Given the description of an element on the screen output the (x, y) to click on. 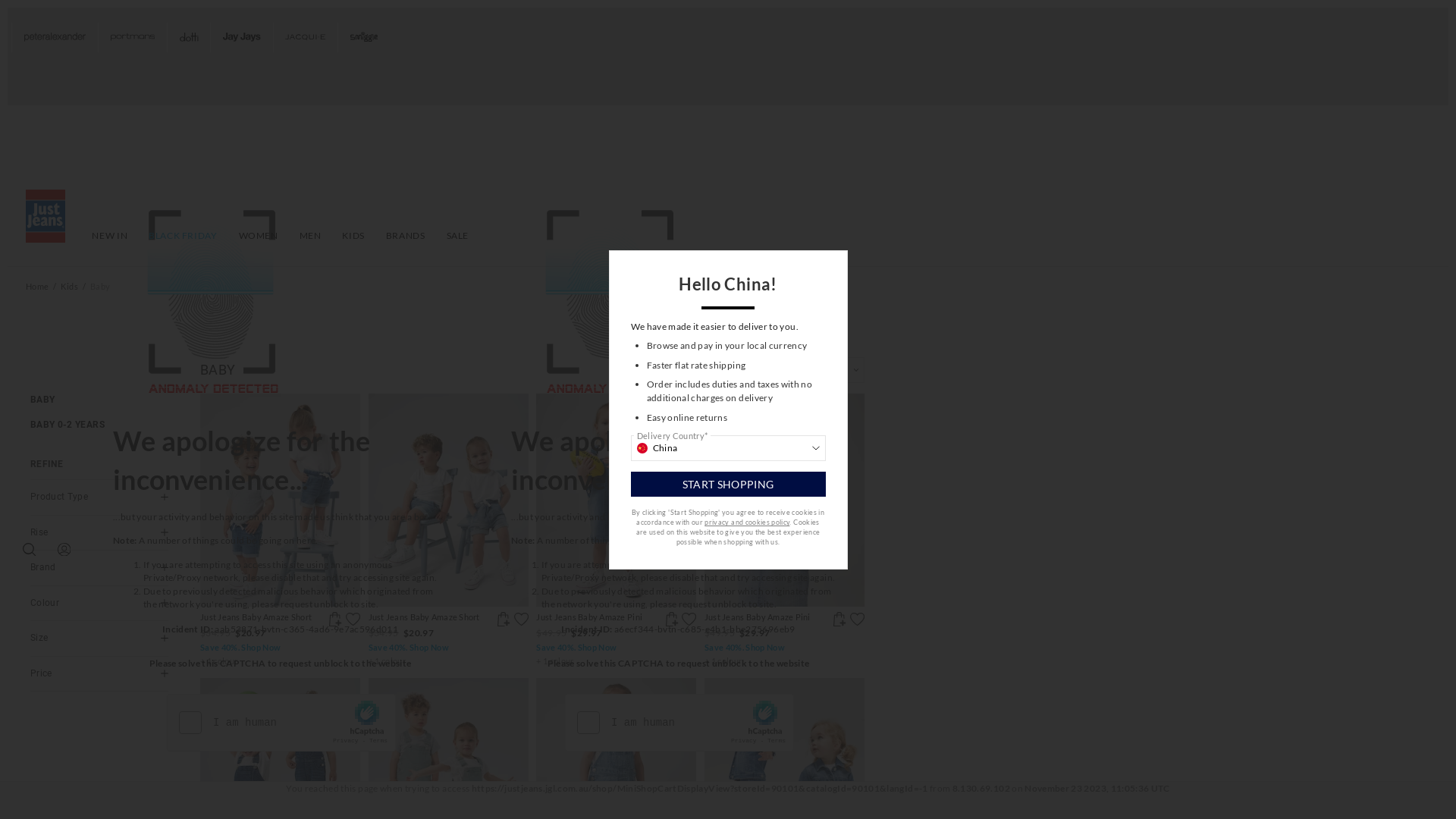
Dotti Element type: hover (188, 37)
Jacqui E Element type: hover (305, 37)
Home Element type: text (36, 286)
Baby Amaze Short Element type: hover (448, 499)
Peter Alexander Element type: hover (54, 37)
Baby Amaze Short Element type: hover (352, 618)
BLACK FRIDAY Element type: text (182, 235)
SALE Element type: text (457, 235)
Baby Amaze Short Element type: hover (502, 618)
WOMEN Element type: text (257, 235)
Baby Amaze Pini Element type: hover (784, 499)
privacy and cookies policy Element type: text (746, 521)
BRANDS Element type: text (405, 235)
Baby Amaze Pini Element type: hover (688, 618)
Smiggle Element type: hover (363, 37)
Baby Amaze Pini Element type: hover (857, 618)
Kids Element type: text (68, 286)
Baby Amaze Short Element type: hover (334, 618)
NEW IN Element type: text (109, 235)
Mid Rise Element type: text (99, 556)
Baby Amaze Pini Element type: hover (671, 618)
Baby Amaze Short Element type: hover (521, 618)
KIDS Element type: text (352, 235)
GO Element type: text (153, 704)
Portmans Element type: hover (131, 37)
Submit Element type: text (677, 798)
Blue Element type: text (99, 626)
Relaxed Element type: text (99, 521)
START SHOPPING Element type: text (727, 484)
Widget containing checkbox for hCaptcha security challenge Element type: hover (678, 723)
Baby Amaze Short Element type: hover (280, 499)
Just Jeans Element type: text (99, 592)
Baby Amaze Pini Element type: hover (838, 618)
Widget containing checkbox for hCaptcha security challenge Element type: hover (281, 723)
BABY Element type: text (42, 399)
BABY 0-2 YEARS Element type: text (67, 424)
3 Element type: text (62, 662)
Baby Amaze Pini Element type: hover (616, 499)
MEN Element type: text (310, 235)
Jay Jays Element type: hover (241, 37)
0-3 Element type: text (135, 662)
Submit Element type: text (279, 798)
